Given the description of an element on the screen output the (x, y) to click on. 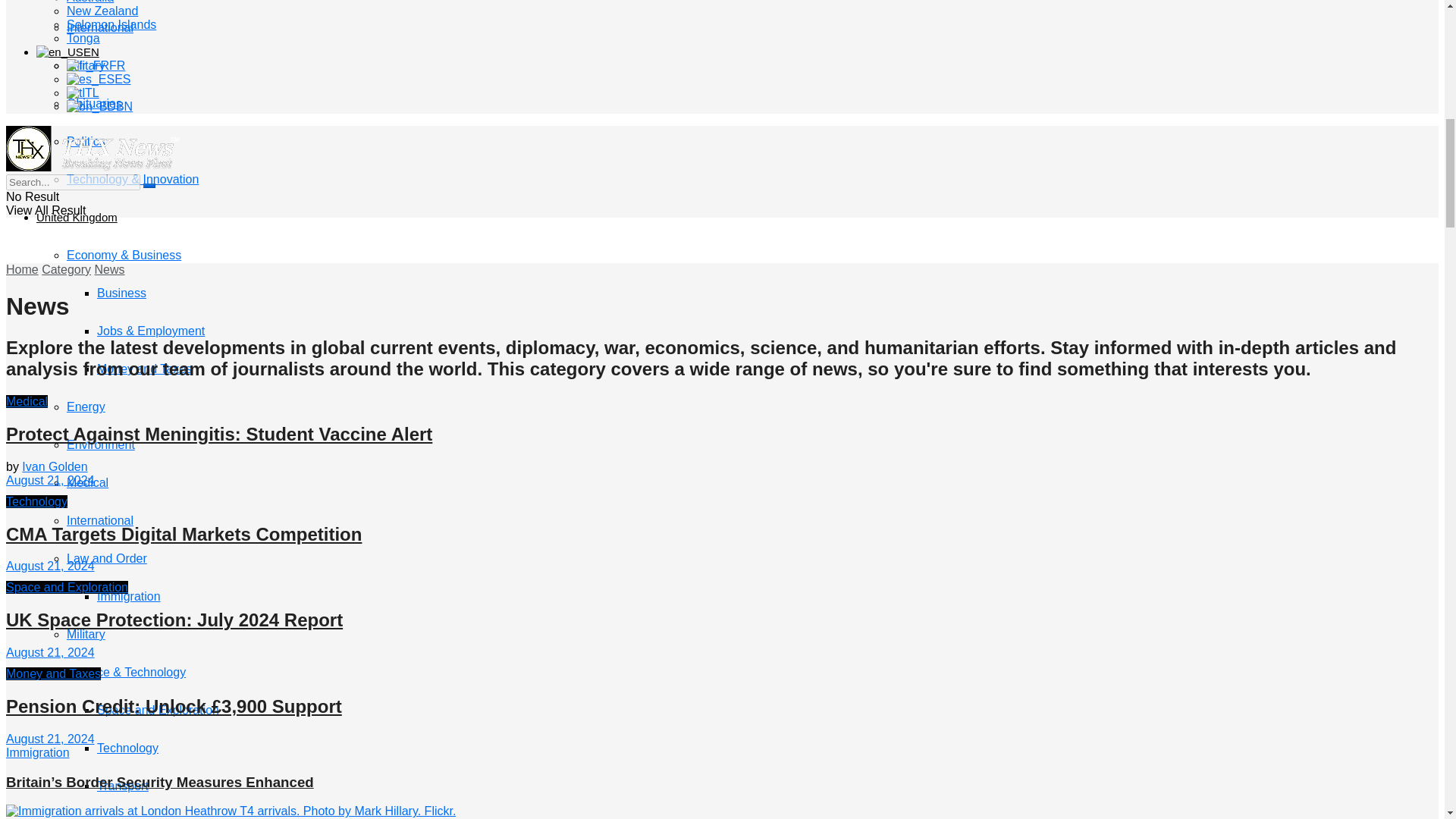
Bengali (91, 106)
English (59, 51)
Tagalog (75, 92)
Spanish (90, 79)
French (87, 65)
